Given the description of an element on the screen output the (x, y) to click on. 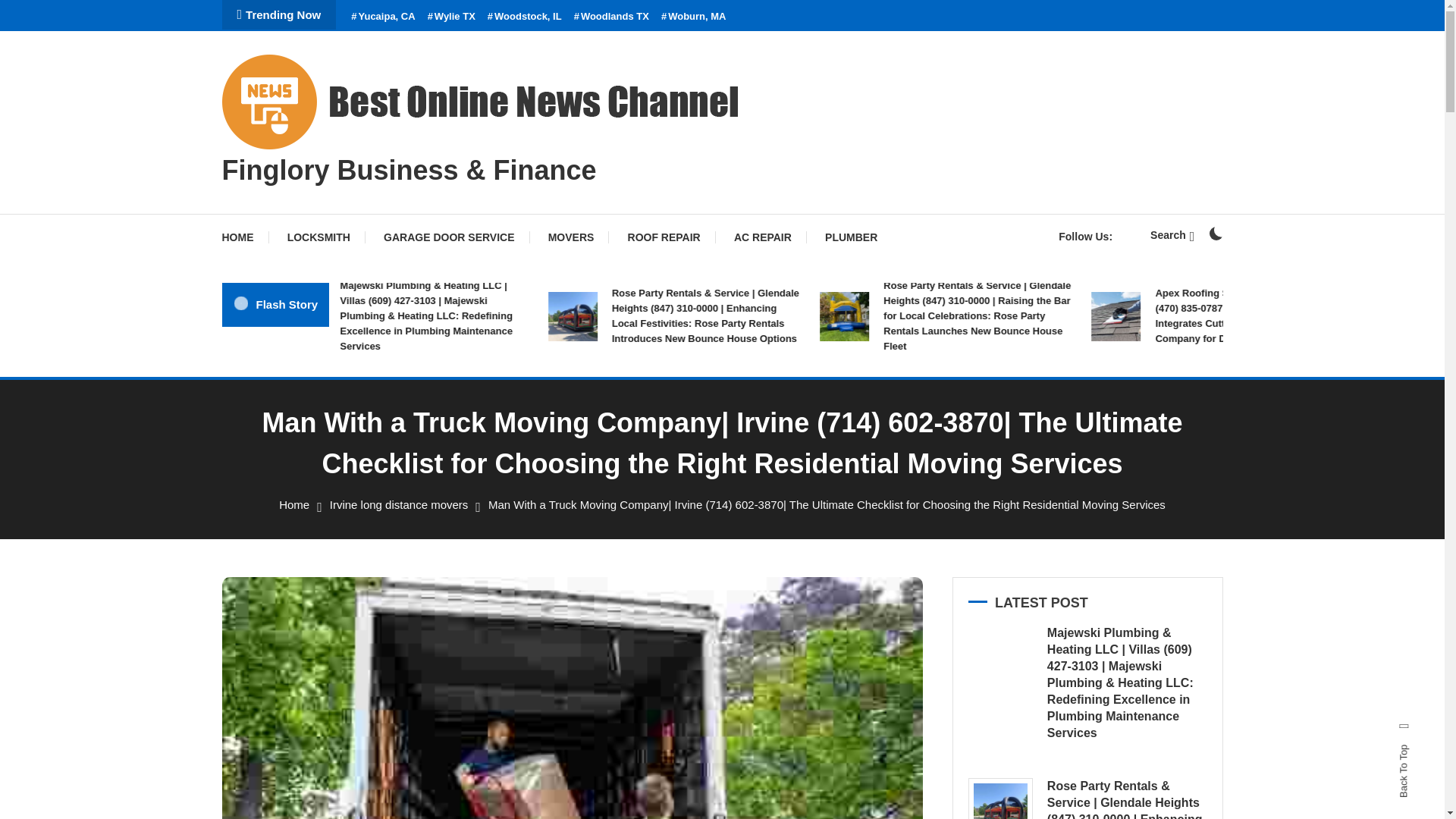
Irvine long distance movers (399, 504)
PLUMBER (850, 237)
LOCKSMITH (318, 237)
MOVERS (571, 237)
Wylie TX (452, 16)
AC REPAIR (762, 237)
HOME (244, 237)
Woburn, MA (693, 16)
Search (1171, 234)
on (1215, 233)
